Given the description of an element on the screen output the (x, y) to click on. 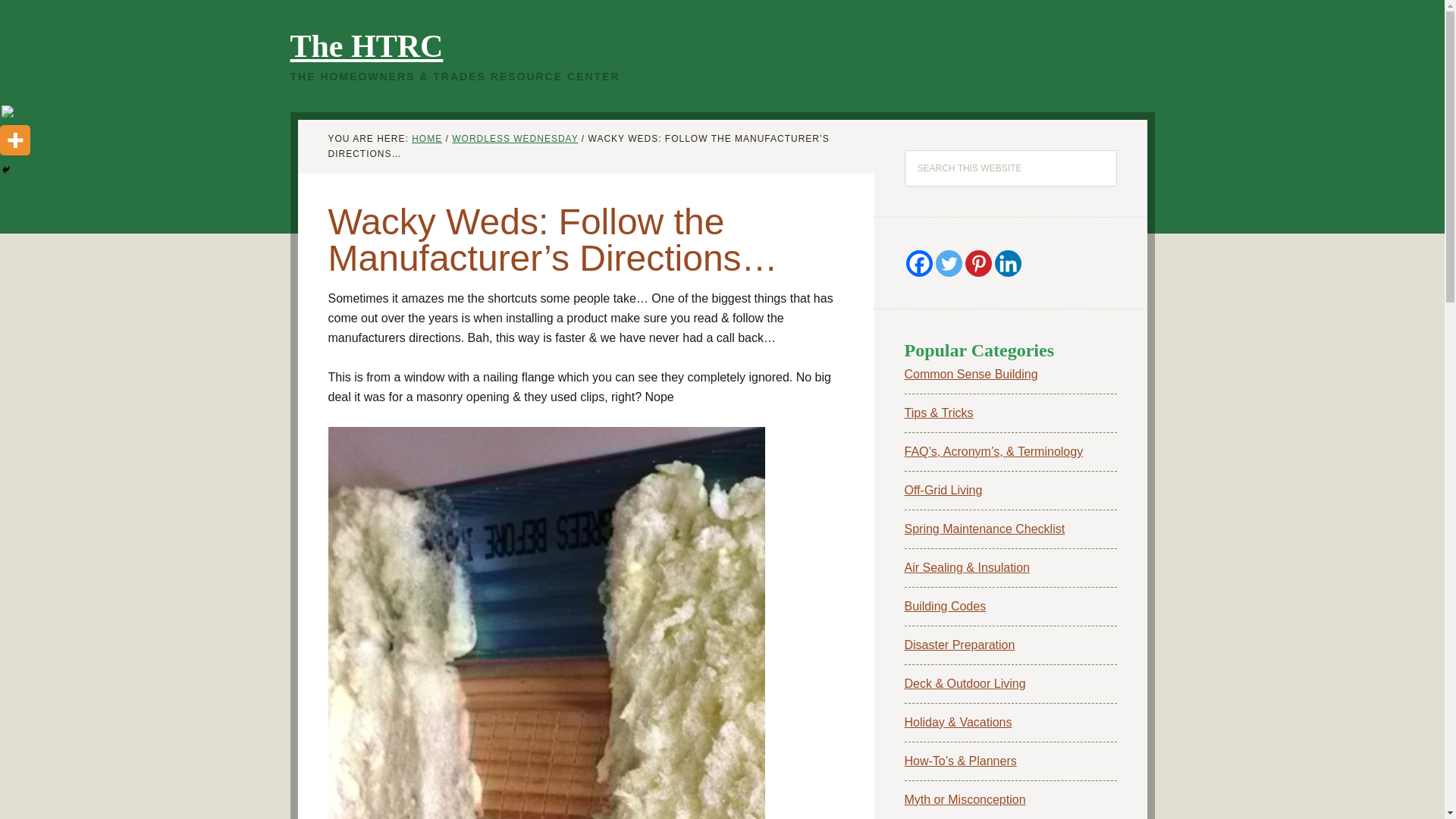
Spring Maintenance Checklist (984, 528)
Linkedin (1008, 263)
Facebook (918, 263)
More (15, 140)
Pinterest (977, 263)
Twitter (949, 263)
WORDLESS WEDNESDAY (514, 138)
Common Sense Building (970, 373)
